Given the description of an element on the screen output the (x, y) to click on. 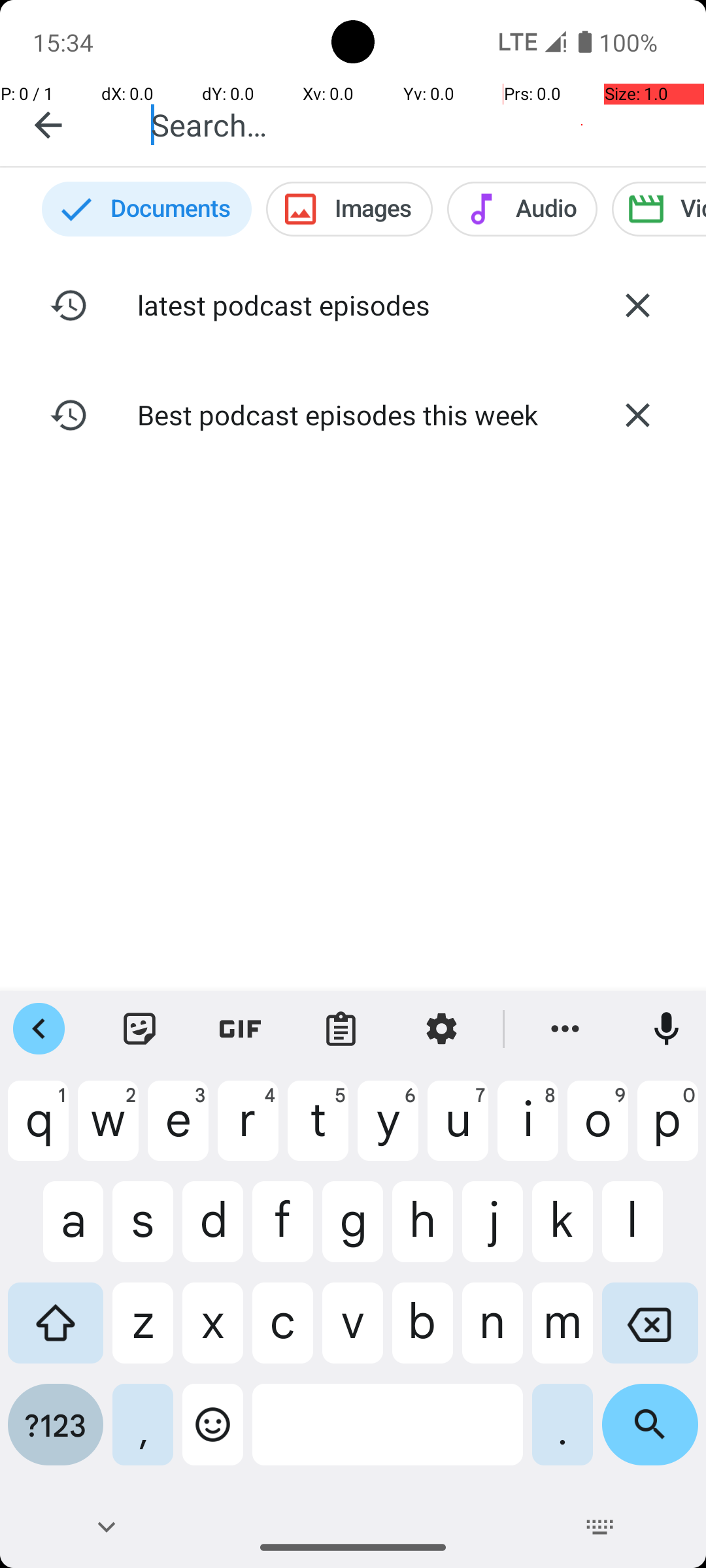
latest podcast episodes Element type: android.widget.TextView (352, 304)
Delete search history latest podcast episodes Element type: android.widget.ImageView (637, 304)
Best podcast episodes this week Element type: android.widget.TextView (352, 414)
Delete search history Best podcast episodes this week Element type: android.widget.ImageView (637, 414)
